Given the description of an element on the screen output the (x, y) to click on. 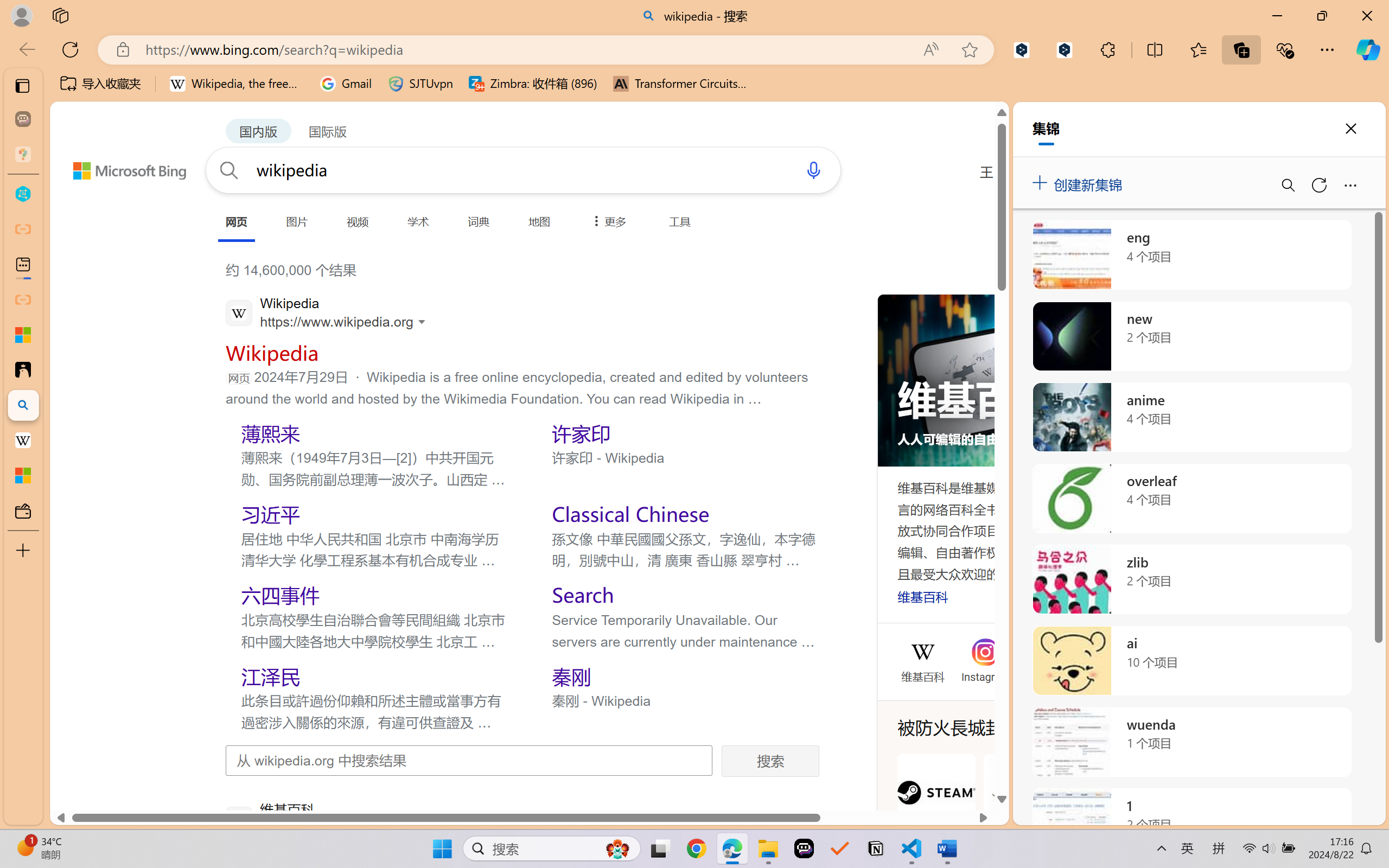
Transformer Circuits Thread (680, 83)
wangyian_dsw - DSW (22, 194)
Earth - Wikipedia (22, 440)
